Given the description of an element on the screen output the (x, y) to click on. 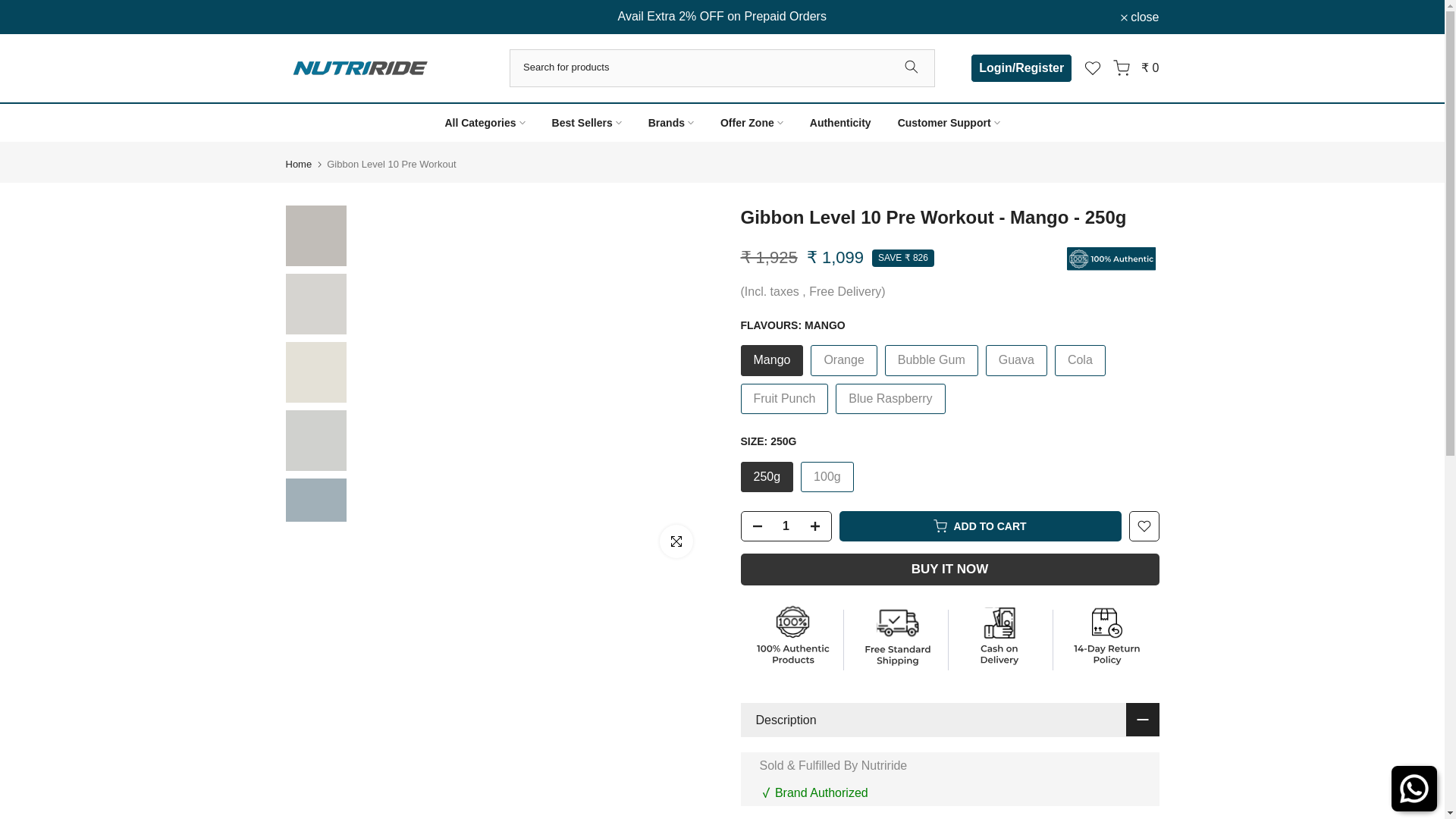
Customer Support (948, 122)
close (1139, 16)
BUY IT NOW (948, 569)
All Categories (484, 122)
Brands (670, 122)
Home (298, 163)
Authenticity (839, 122)
1 (786, 525)
Description (948, 719)
ADD TO CART (979, 526)
Best Sellers (586, 122)
Offer Zone (751, 122)
Skip to content (10, 7)
